Given the description of an element on the screen output the (x, y) to click on. 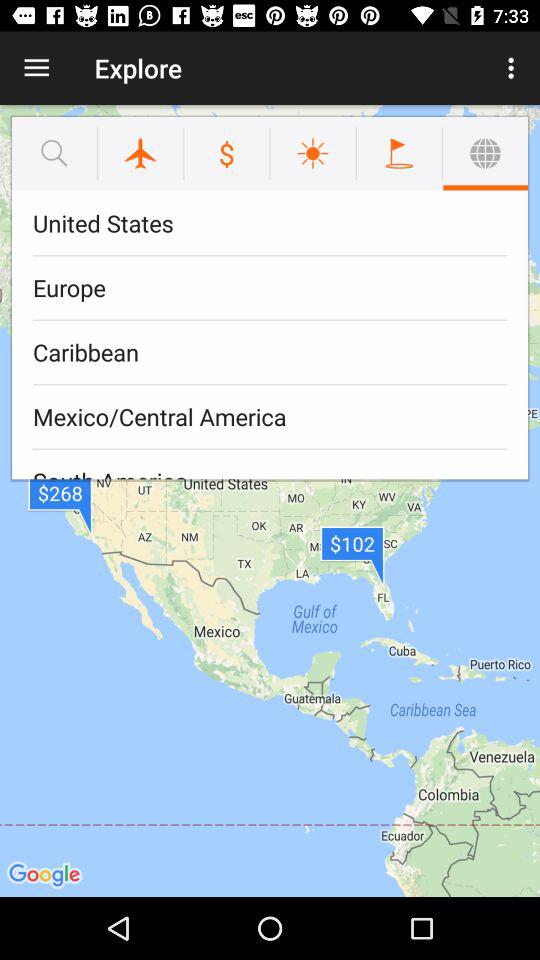
scroll until the south america item (270, 464)
